Given the description of an element on the screen output the (x, y) to click on. 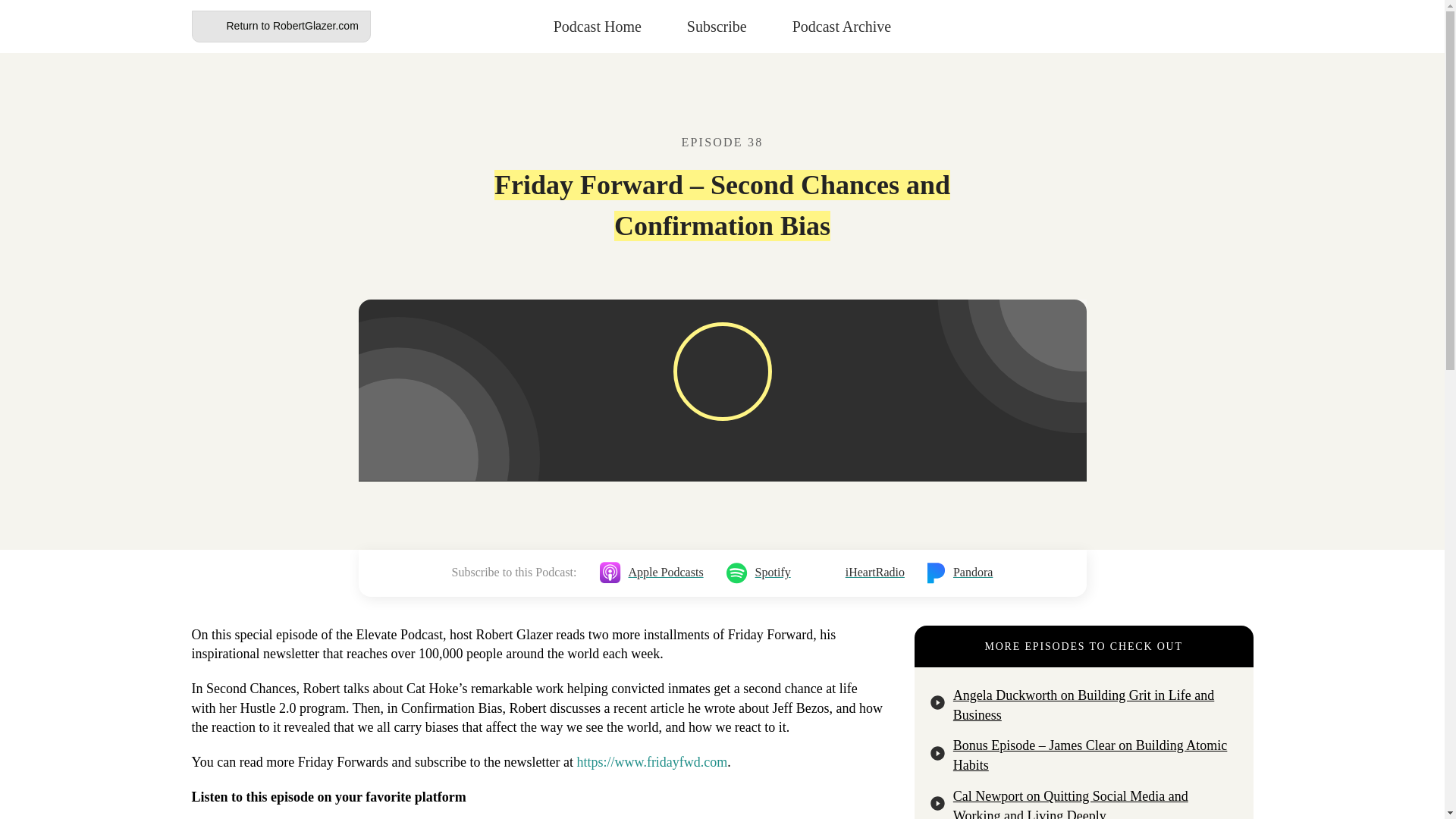
Angela Duckworth on Building Grit in Life and Business (1084, 705)
Podcast Home (597, 26)
Return to RobertGlazer.com (279, 26)
Spotify (758, 572)
Podcast Archive (841, 26)
Pandora (959, 572)
iHeartRadio (858, 573)
Apple Podcasts (650, 572)
Subscribe (716, 26)
